Given the description of an element on the screen output the (x, y) to click on. 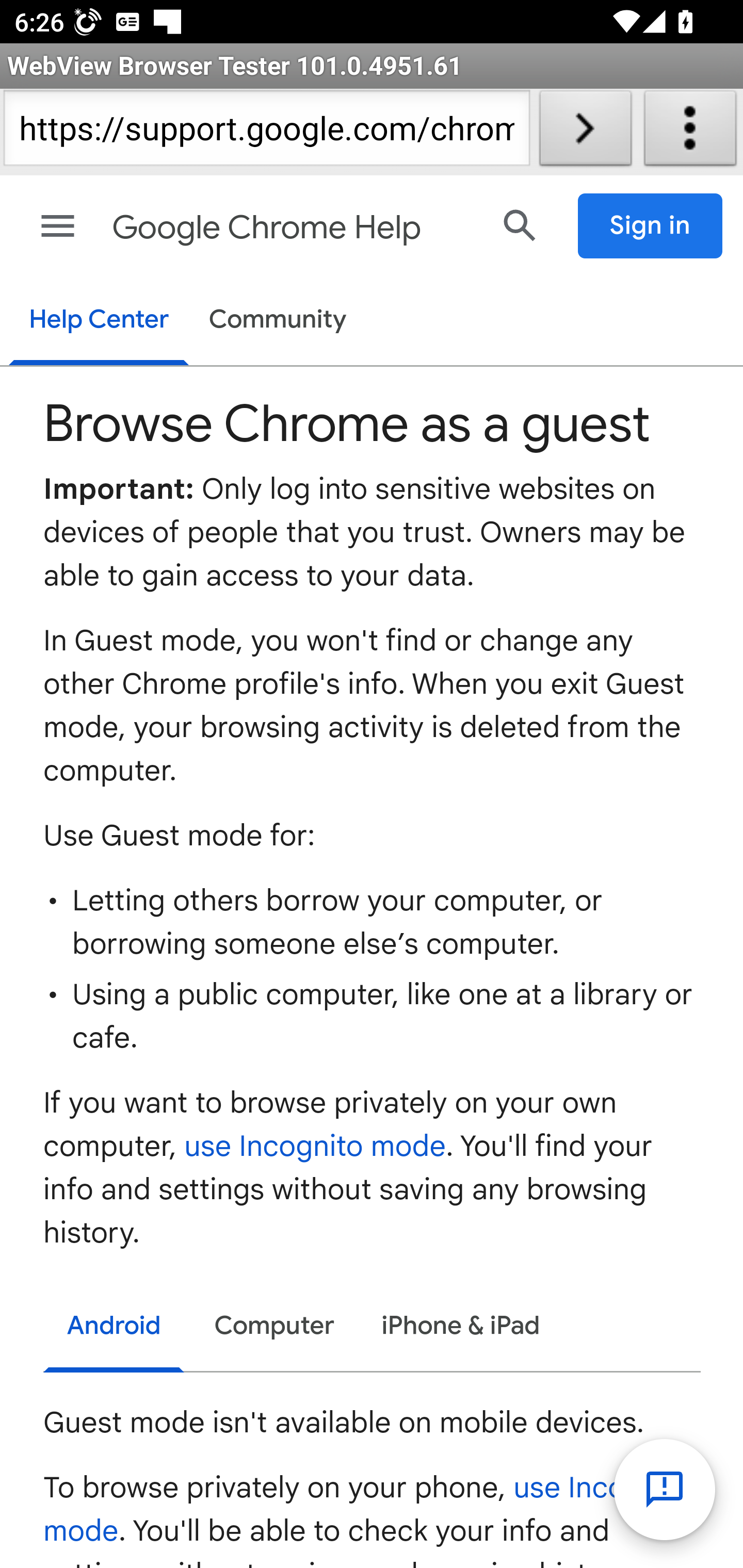
Load URL (585, 132)
About WebView (690, 132)
Main menu (58, 226)
Google Chrome Help (292, 227)
Search Help Center (519, 225)
Sign in (650, 226)
Help Center (98, 320)
Community (277, 320)
use Incognito mode (316, 1146)
Android (114, 1328)
Computer (273, 1327)
iPhone & iPad (460, 1327)
use Incognito mode (368, 1508)
